Given the description of an element on the screen output the (x, y) to click on. 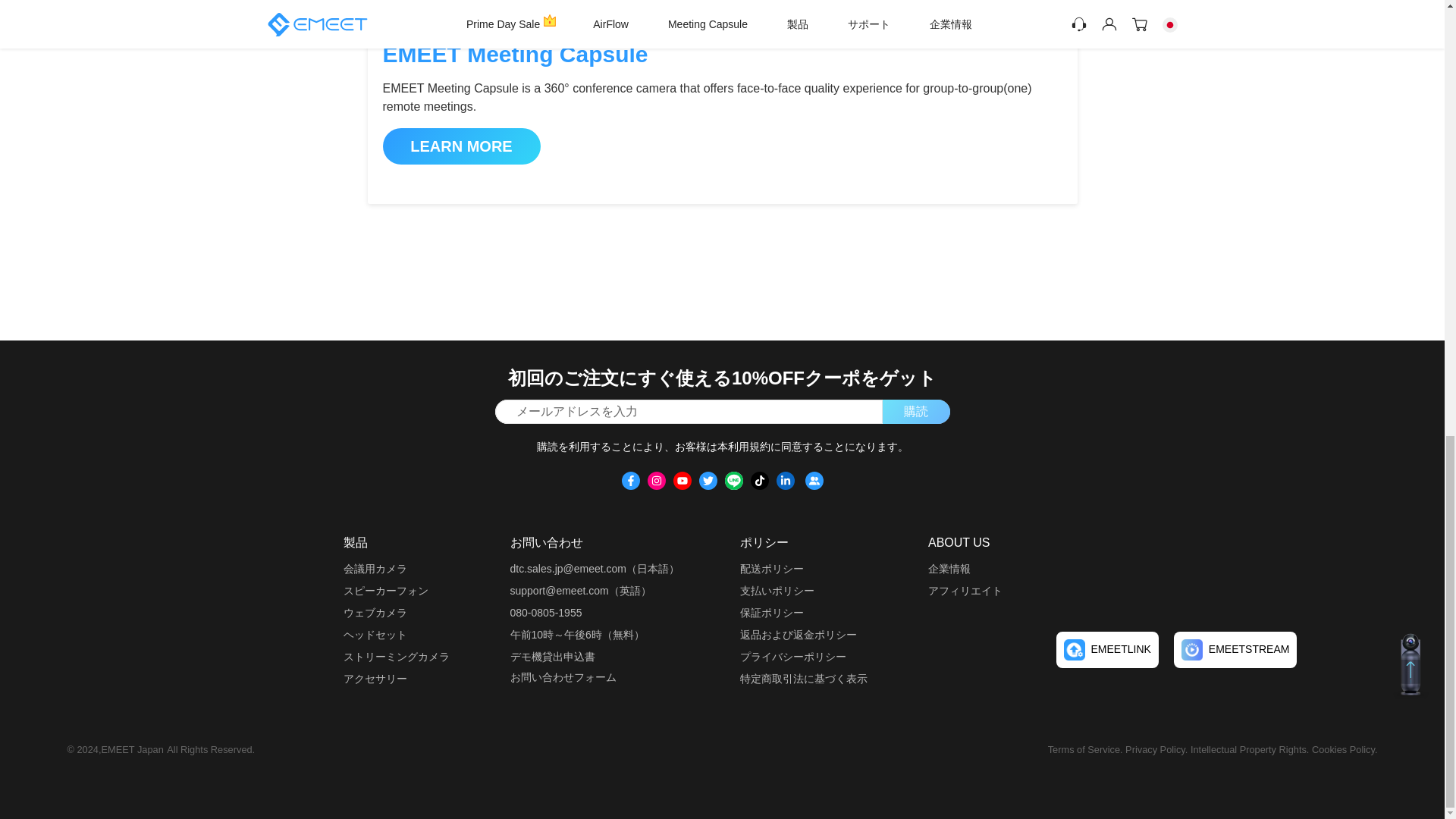
This online store is secured by Shopify (1112, 574)
